Given the description of an element on the screen output the (x, y) to click on. 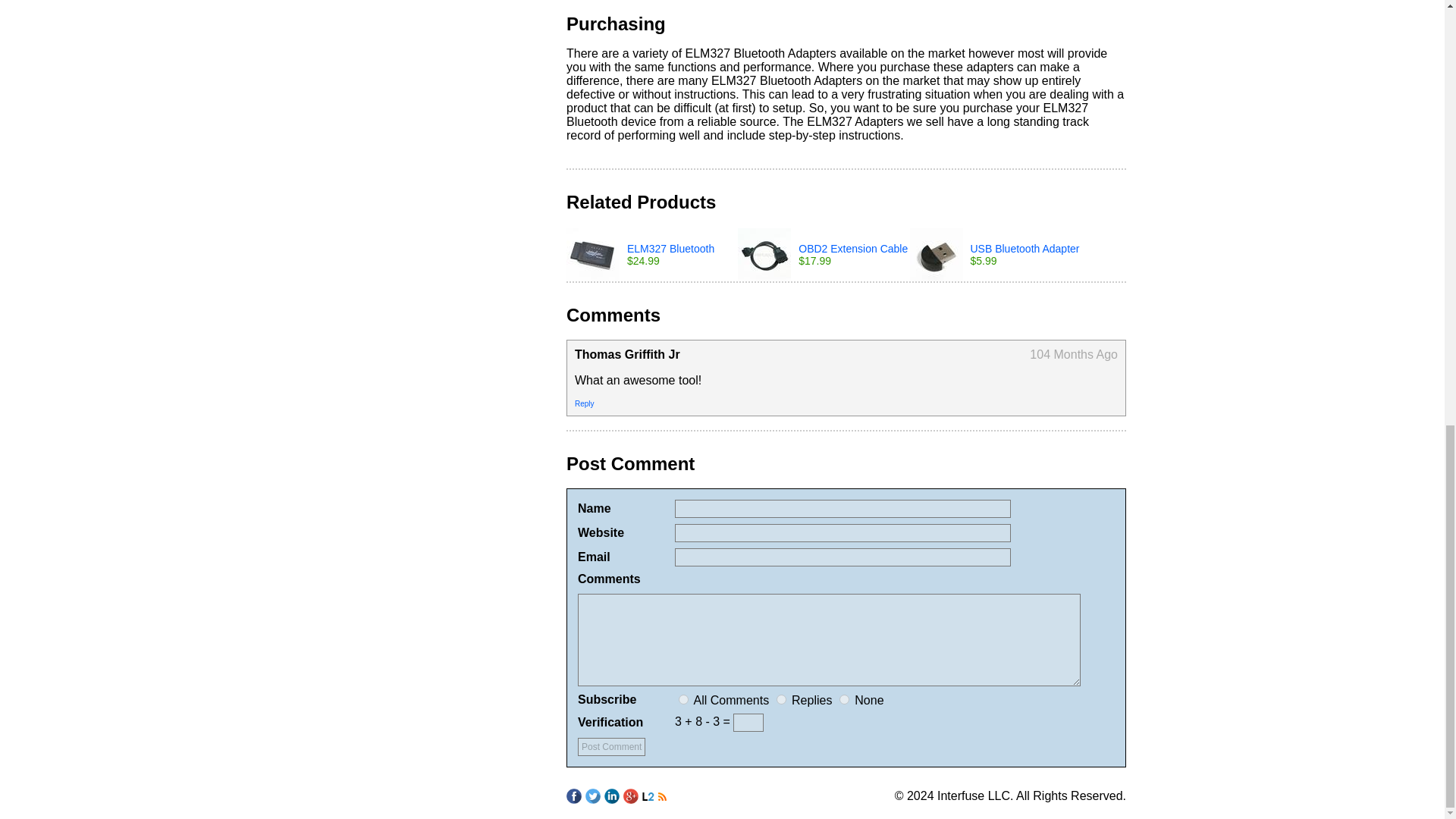
Post Comment (611, 746)
USB Bluetooth Adapter (1025, 248)
none (844, 699)
replies (781, 699)
ELM327 Bluetooth (670, 248)
OBD2 Extension Cable (852, 248)
Link To Directory (647, 796)
all (683, 699)
